Given the description of an element on the screen output the (x, y) to click on. 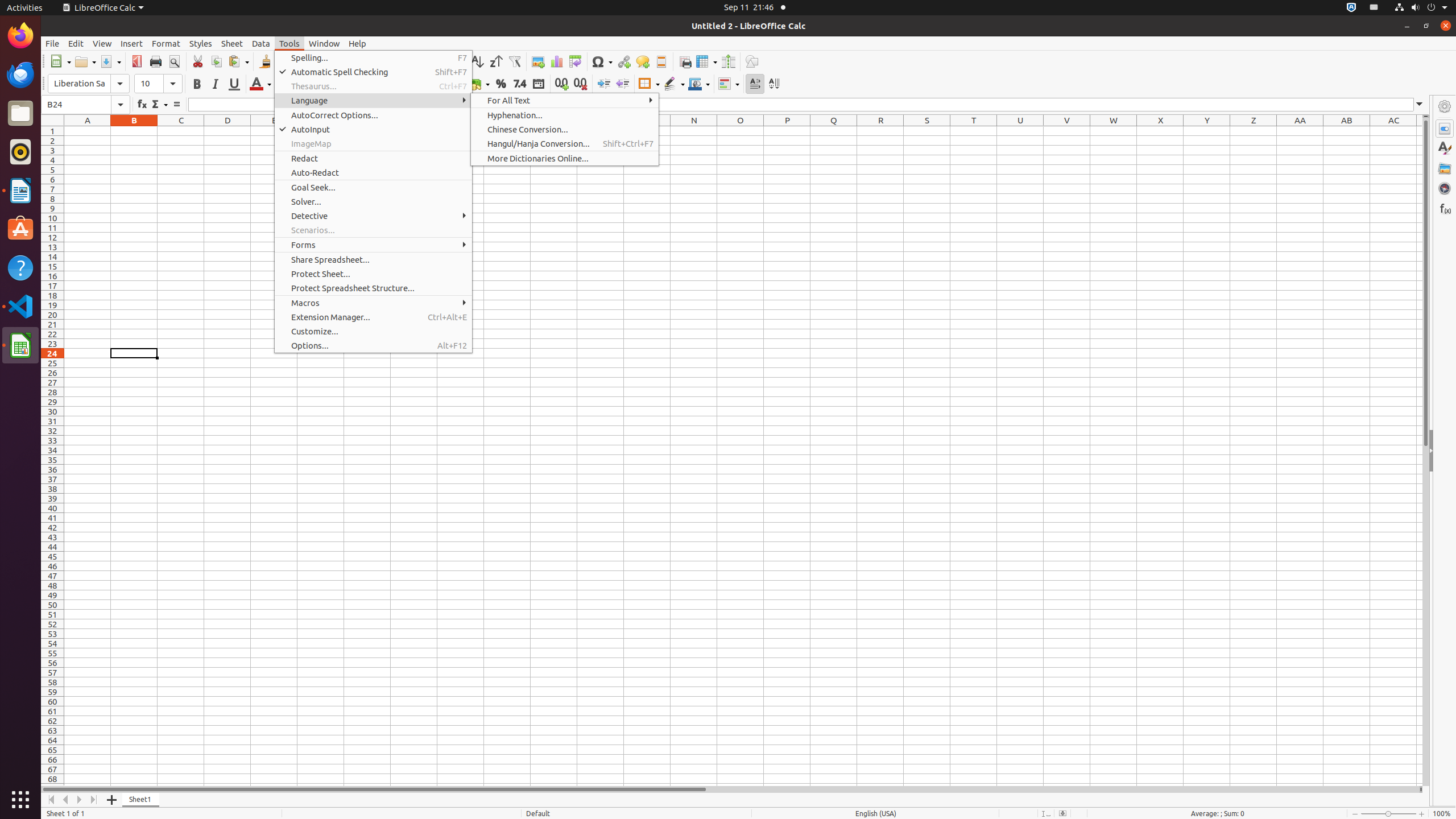
LibreOffice Calc Element type: menu (102, 7)
S1 Element type: table-cell (926, 130)
Move Left Element type: push-button (65, 799)
Forms Element type: menu (373, 244)
Comment Element type: push-button (642, 61)
